Given the description of an element on the screen output the (x, y) to click on. 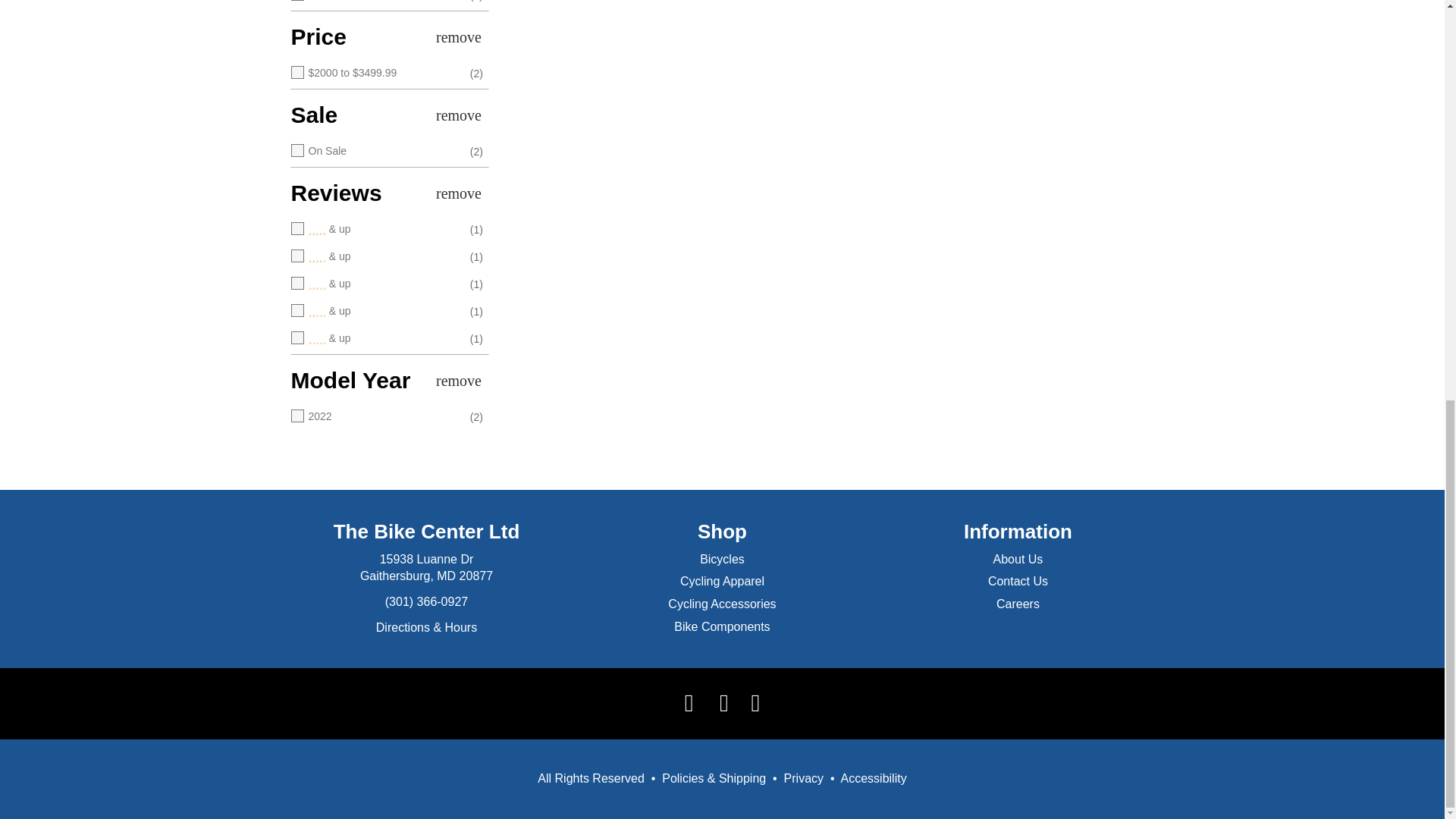
4 (374, 256)
2 (374, 311)
3 (374, 283)
1 (374, 338)
5 (374, 229)
